Given the description of an element on the screen output the (x, y) to click on. 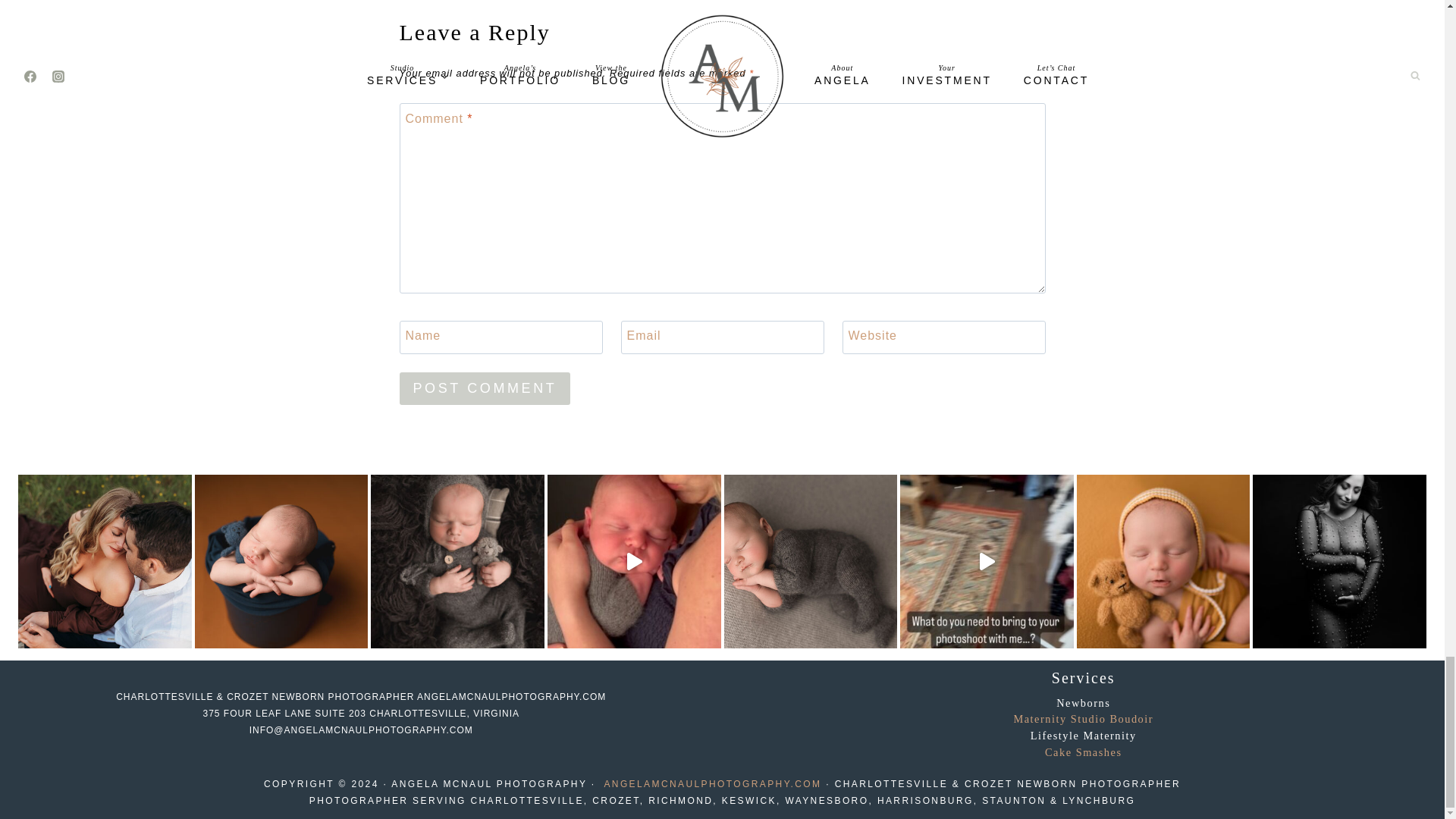
Post Comment (484, 388)
